Given the description of an element on the screen output the (x, y) to click on. 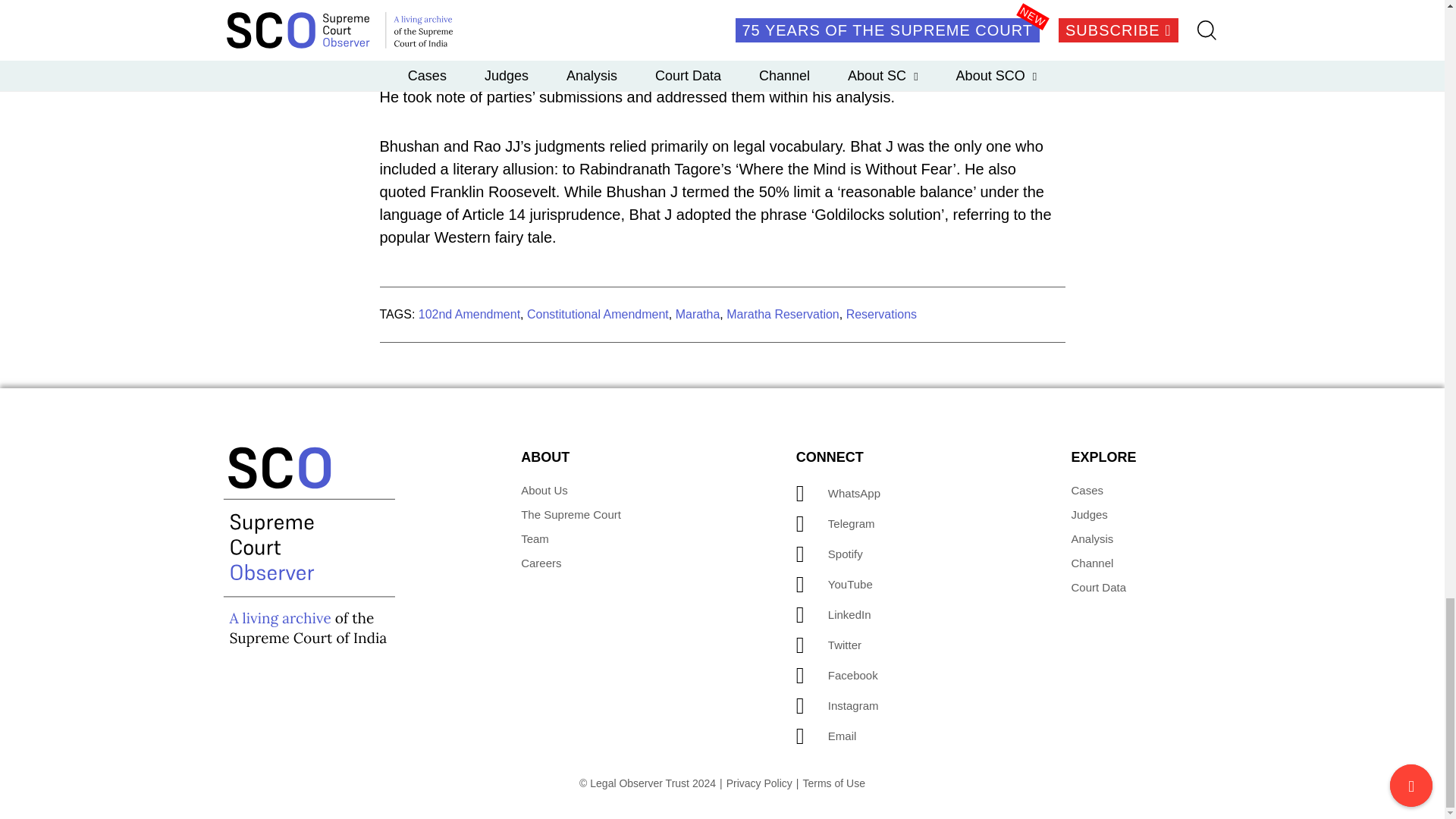
Reservations (881, 314)
Constitutional Amendment (597, 314)
Maratha Reservation (783, 314)
Maratha (697, 314)
102nd Amendment (469, 314)
